Given the description of an element on the screen output the (x, y) to click on. 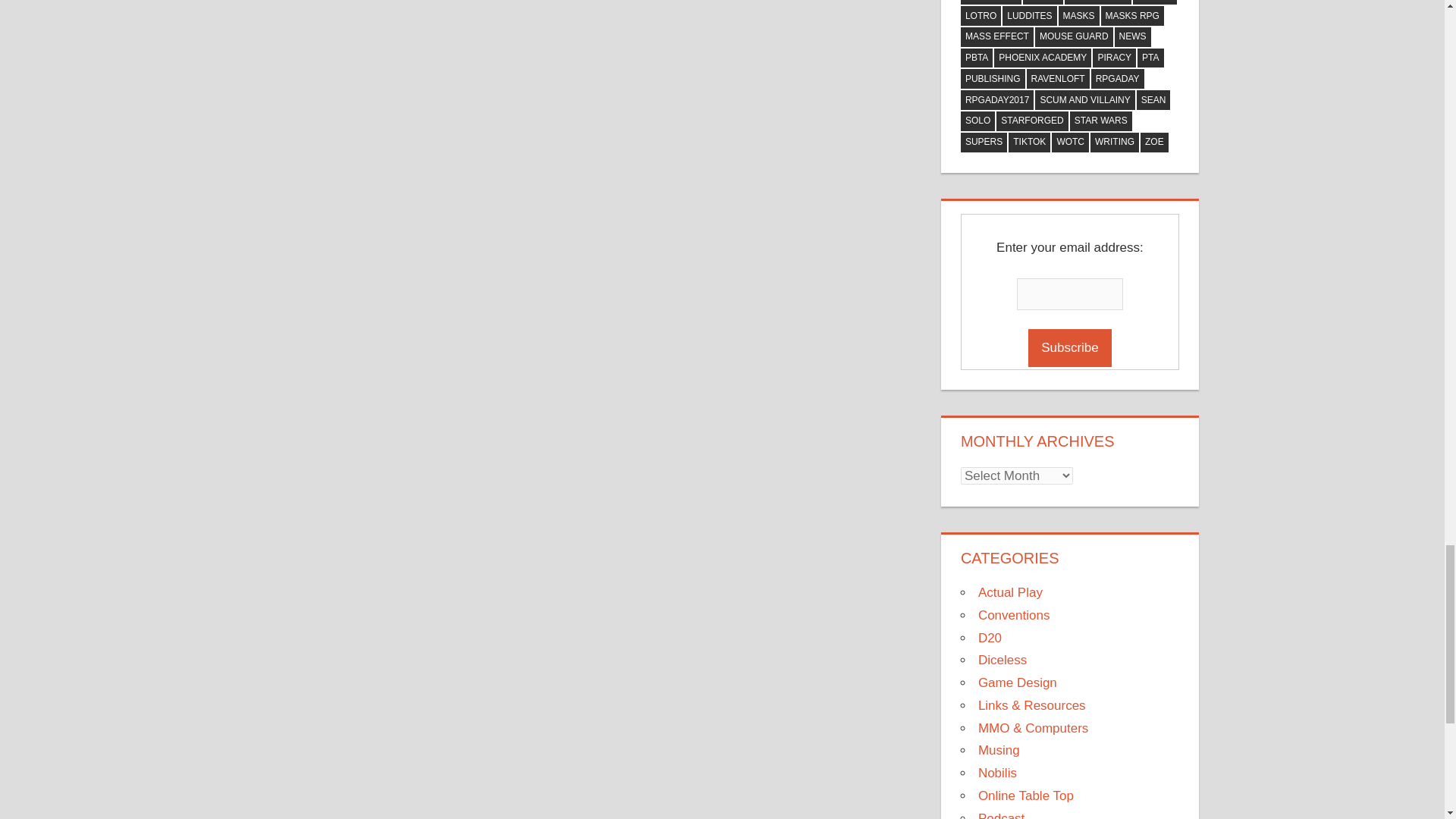
Subscribe (1069, 347)
